Given the description of an element on the screen output the (x, y) to click on. 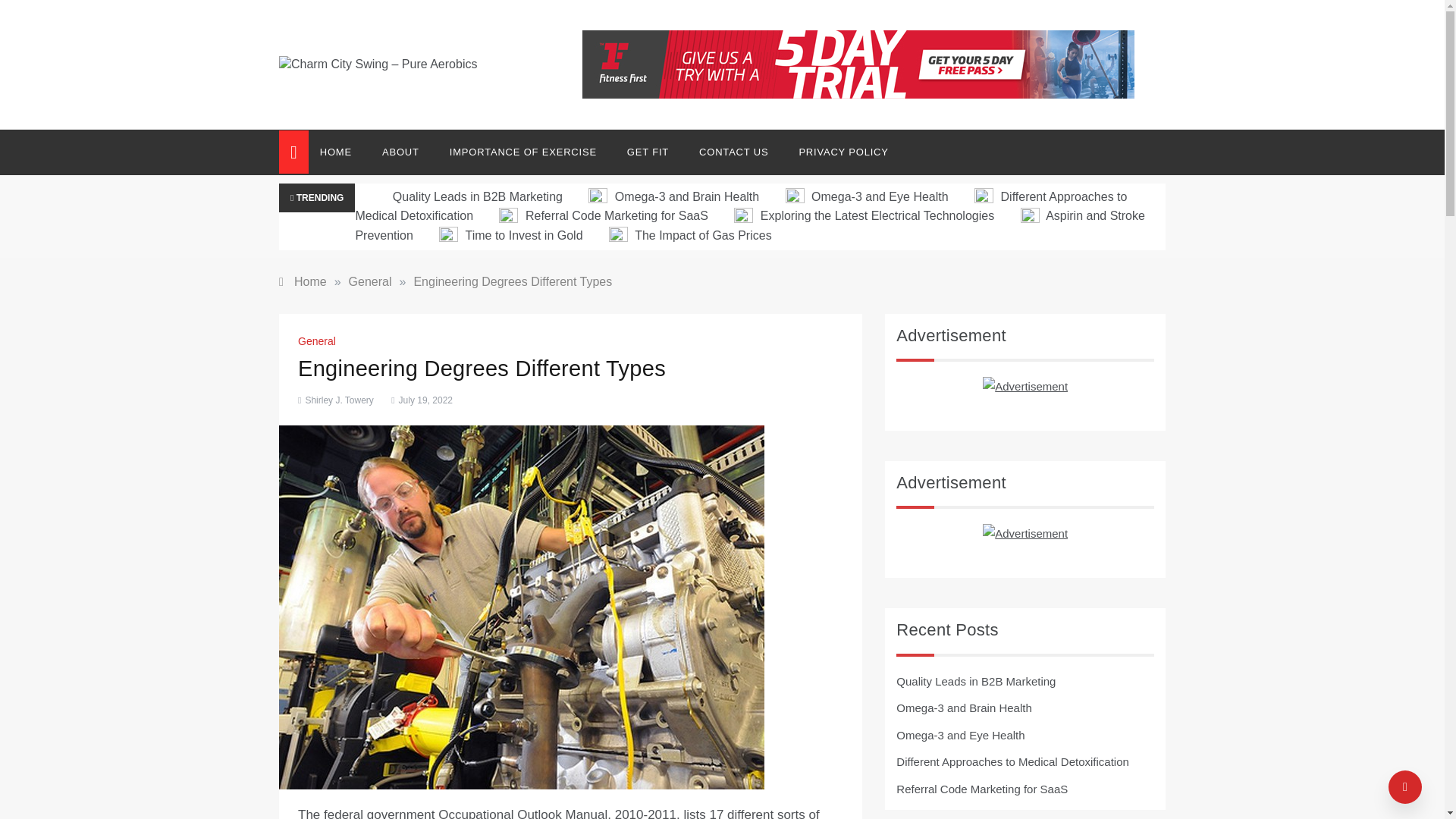
Omega-3 and Eye Health (868, 196)
General (318, 340)
Shirley J. Towery (338, 399)
Time to Invest in Gold (512, 235)
Aspirin and Stroke Prevention (749, 224)
Omega-3 and Brain Health (674, 196)
Exploring the Latest Electrical Technologies (865, 215)
CONTACT US (733, 152)
Home (302, 281)
Quality Leads in B2B Marketing (465, 196)
Engineering Degrees Different Types (512, 281)
PRIVACY POLICY (835, 152)
ABOUT (399, 152)
General (370, 281)
GET FIT (647, 152)
